Given the description of an element on the screen output the (x, y) to click on. 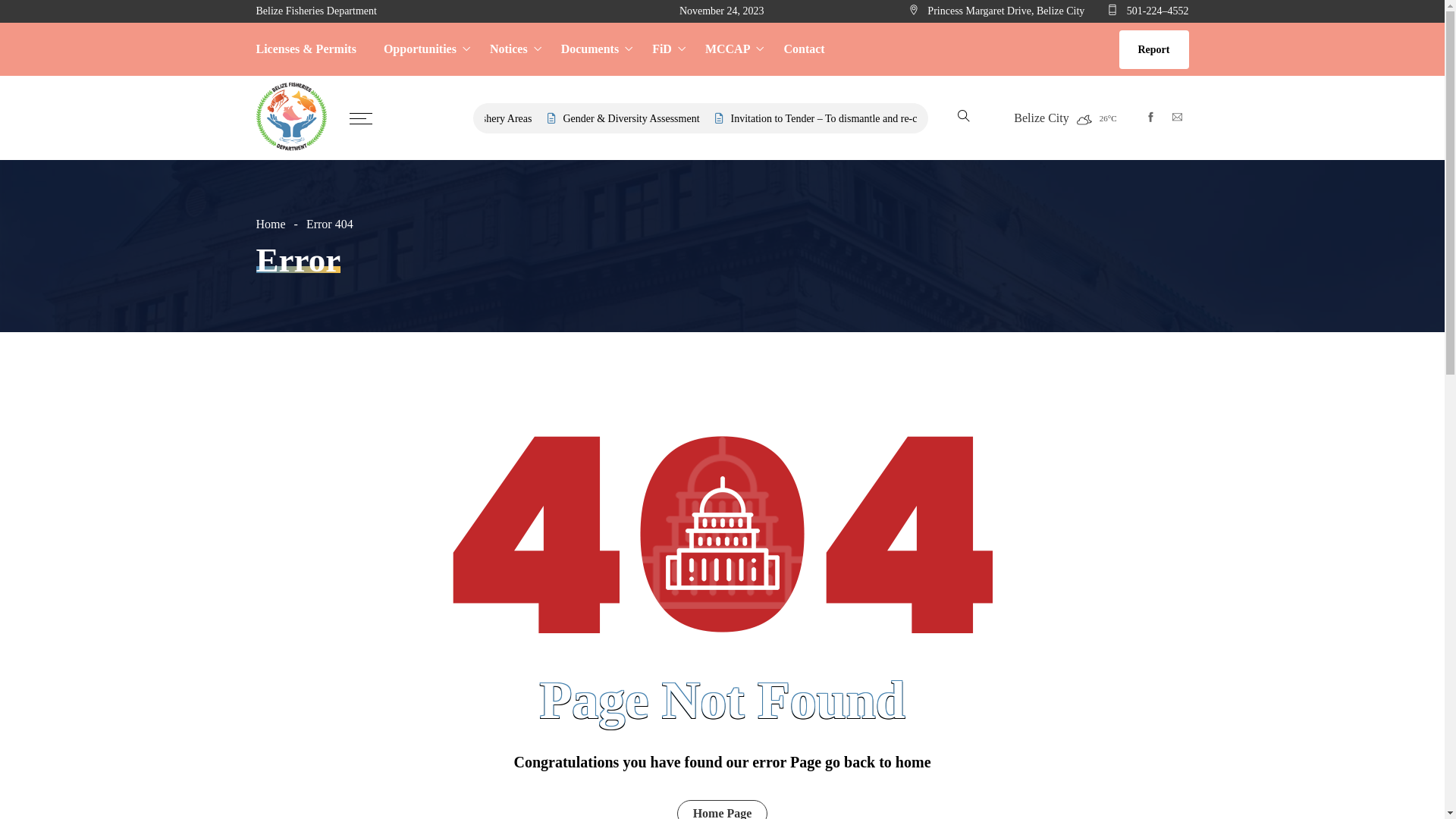
Contact Element type: text (796, 48)
Home Element type: text (279, 223)
Notices Element type: text (511, 48)
Licenses & Permits Element type: text (313, 48)
Opportunities Element type: text (423, 48)
Gender & Diversity Assessment Element type: text (708, 118)
FiD Element type: text (664, 48)
MCCAP Element type: text (730, 48)
Fisheries Department Element type: hover (291, 118)
Report Element type: text (1154, 49)
Fisheries Department Element type: hover (291, 116)
Documents Element type: text (592, 48)
